Given the description of an element on the screen output the (x, y) to click on. 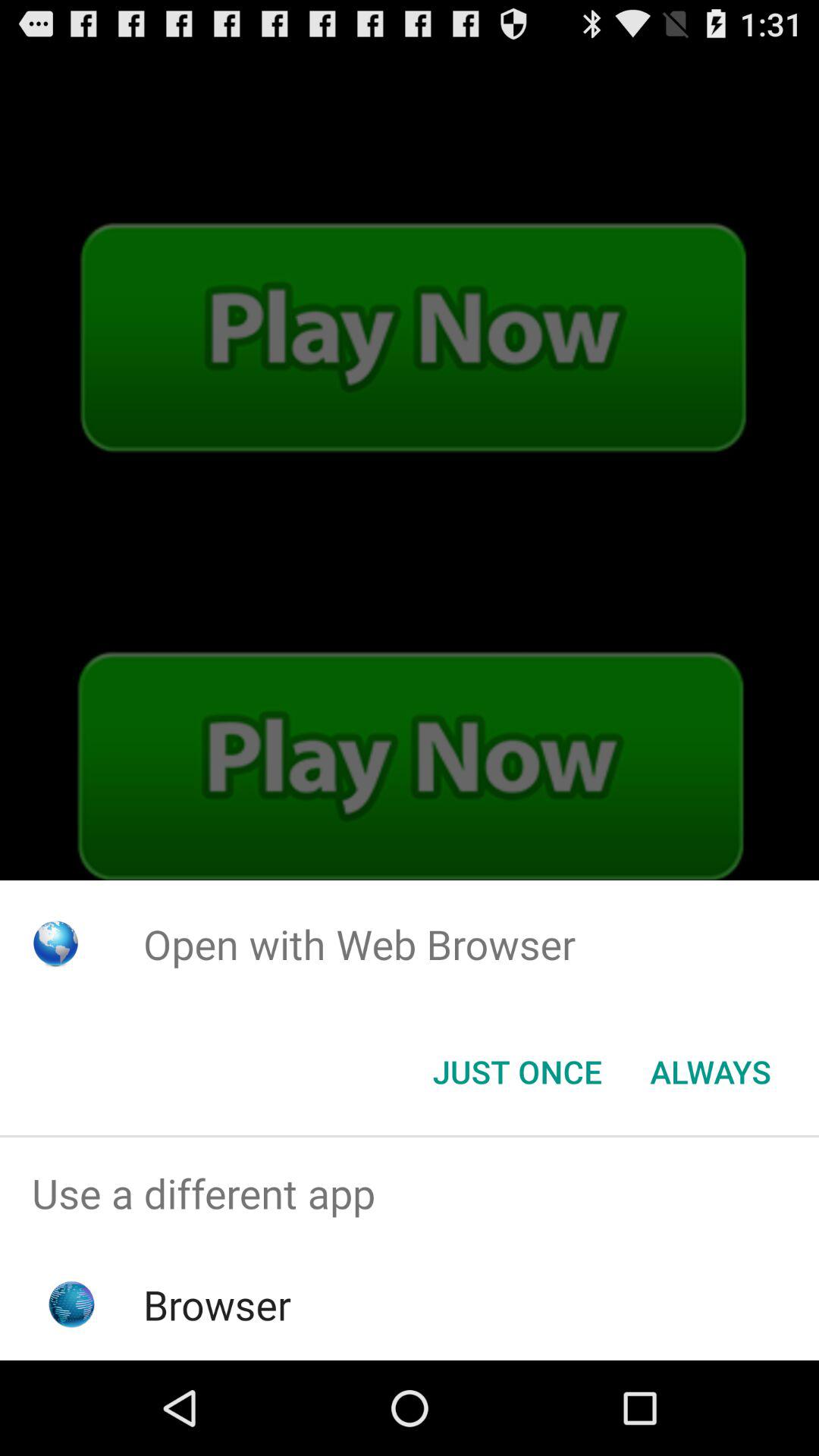
turn on the use a different (409, 1192)
